Given the description of an element on the screen output the (x, y) to click on. 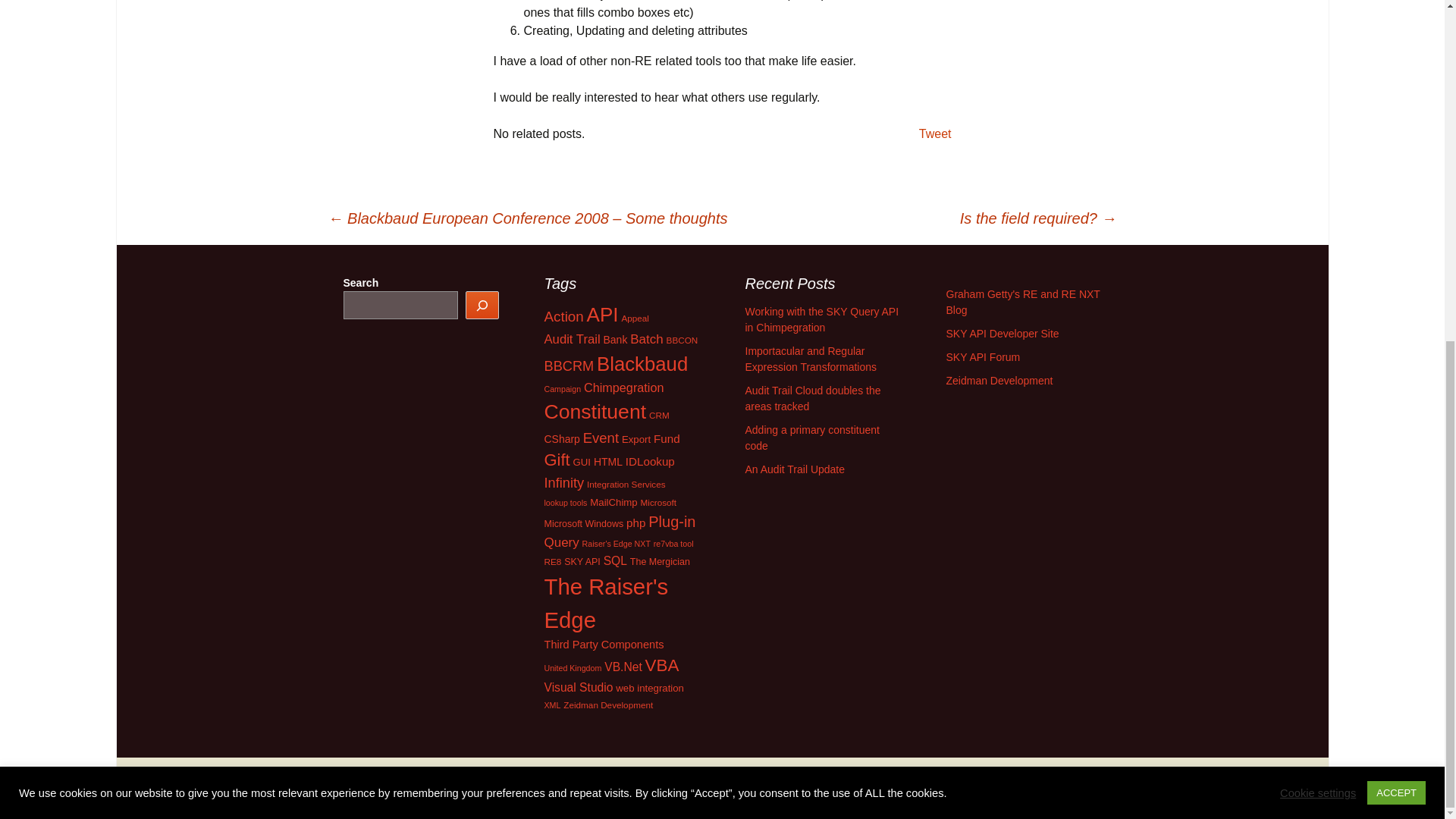
Fund (666, 438)
Bank (615, 339)
Batch (646, 339)
Event (600, 437)
Export (635, 439)
CRM (659, 415)
HTML (608, 461)
Gift (557, 459)
Tweet (935, 133)
GUI (582, 461)
Audit Trail (571, 339)
Campaign (562, 388)
API (602, 314)
Chimpegration (623, 386)
BBCON (682, 339)
